Given the description of an element on the screen output the (x, y) to click on. 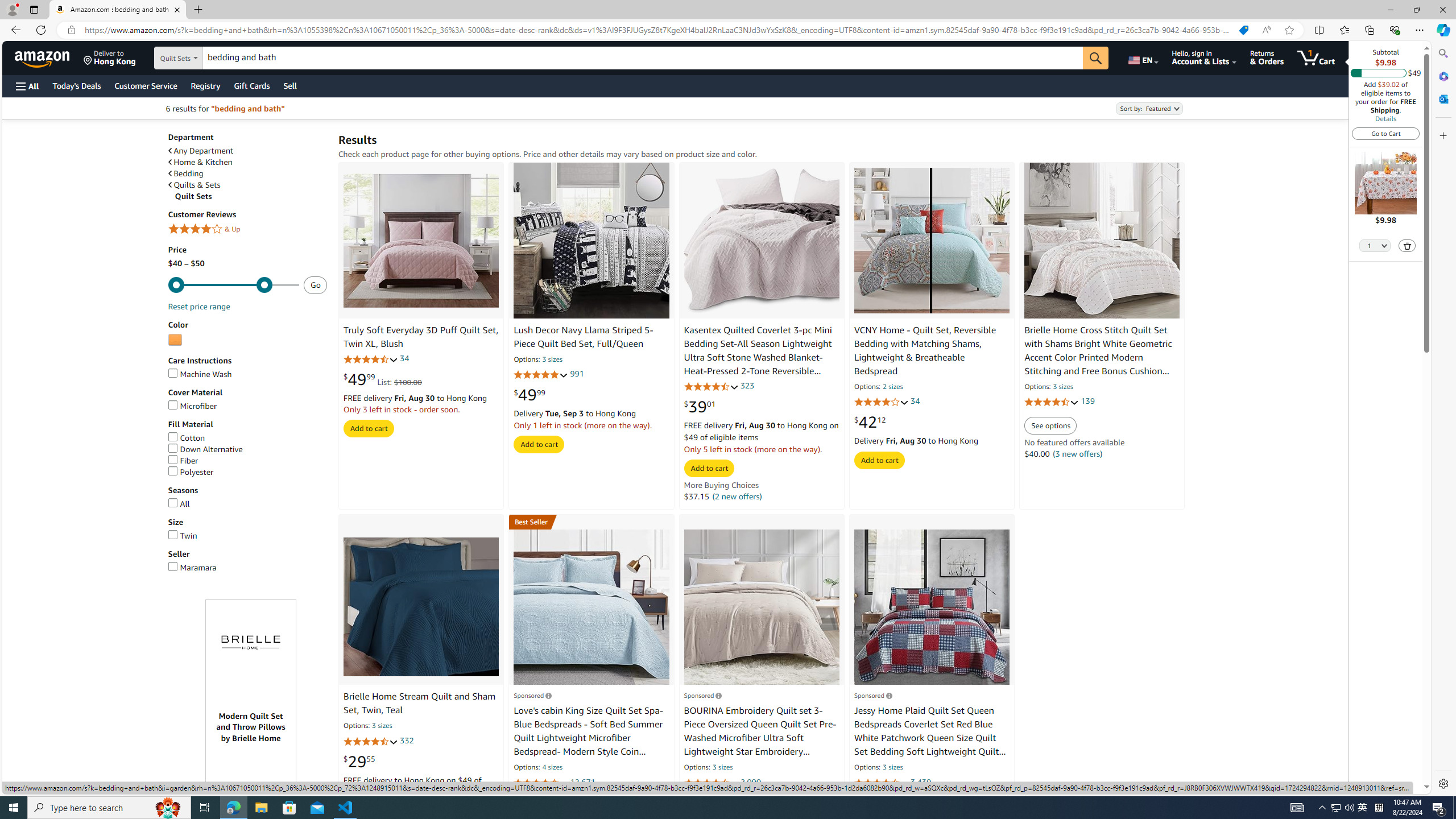
332 (406, 740)
4.5 out of 5 stars (541, 782)
AutomationID: p_n_feature_twenty_browse-bin/3254105011 (174, 340)
2,090 (750, 781)
Microfiber (247, 406)
Skip to main search results (50, 788)
Home & Kitchen (247, 162)
Customize (1442, 135)
Quilts & Sets (247, 185)
12,671 (582, 781)
Delete (1407, 245)
Brielle Home Stream Quilt and Sham Set, Twin, Teal (421, 606)
